Given the description of an element on the screen output the (x, y) to click on. 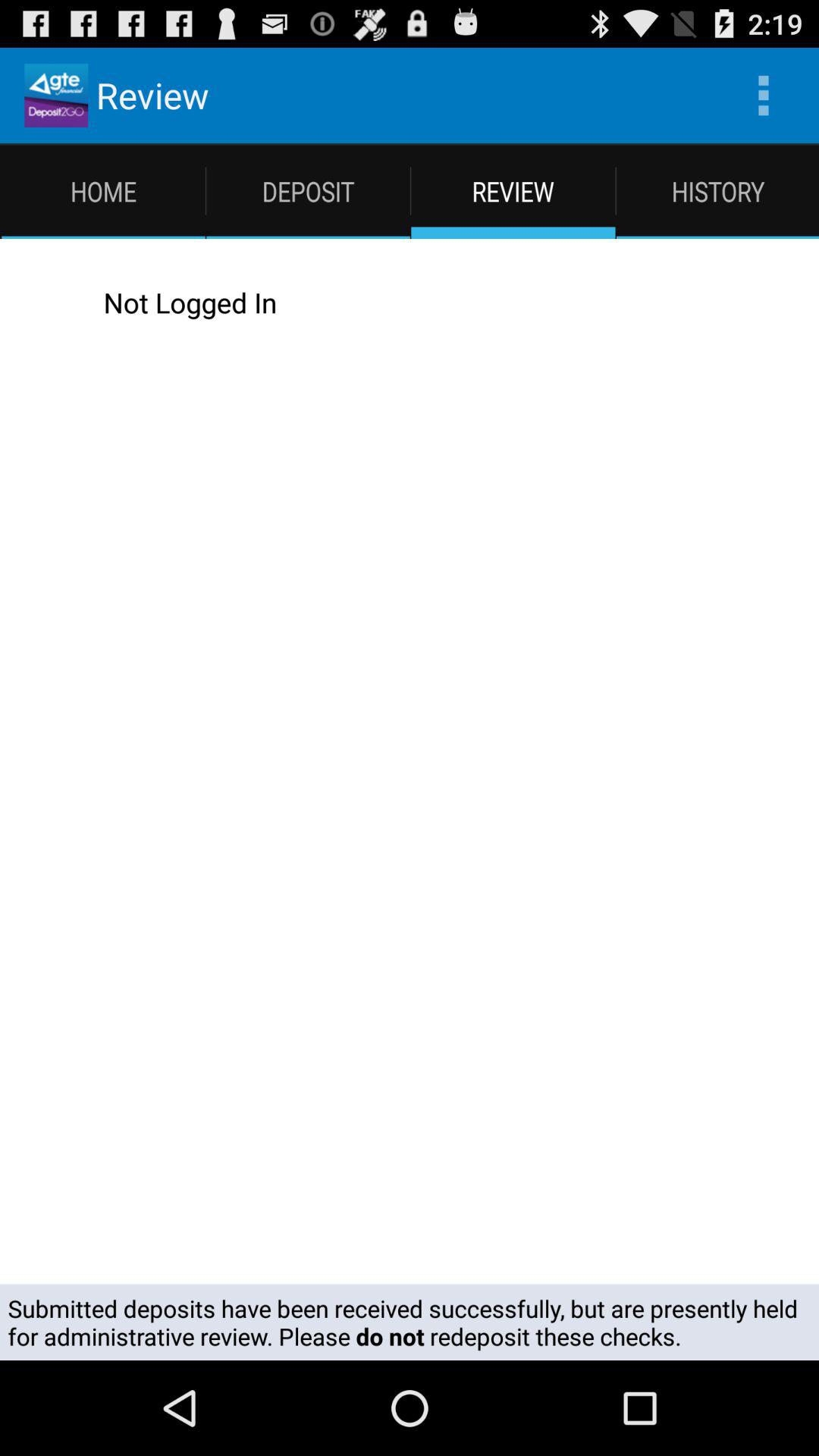
click app below home app (425, 302)
